Given the description of an element on the screen output the (x, y) to click on. 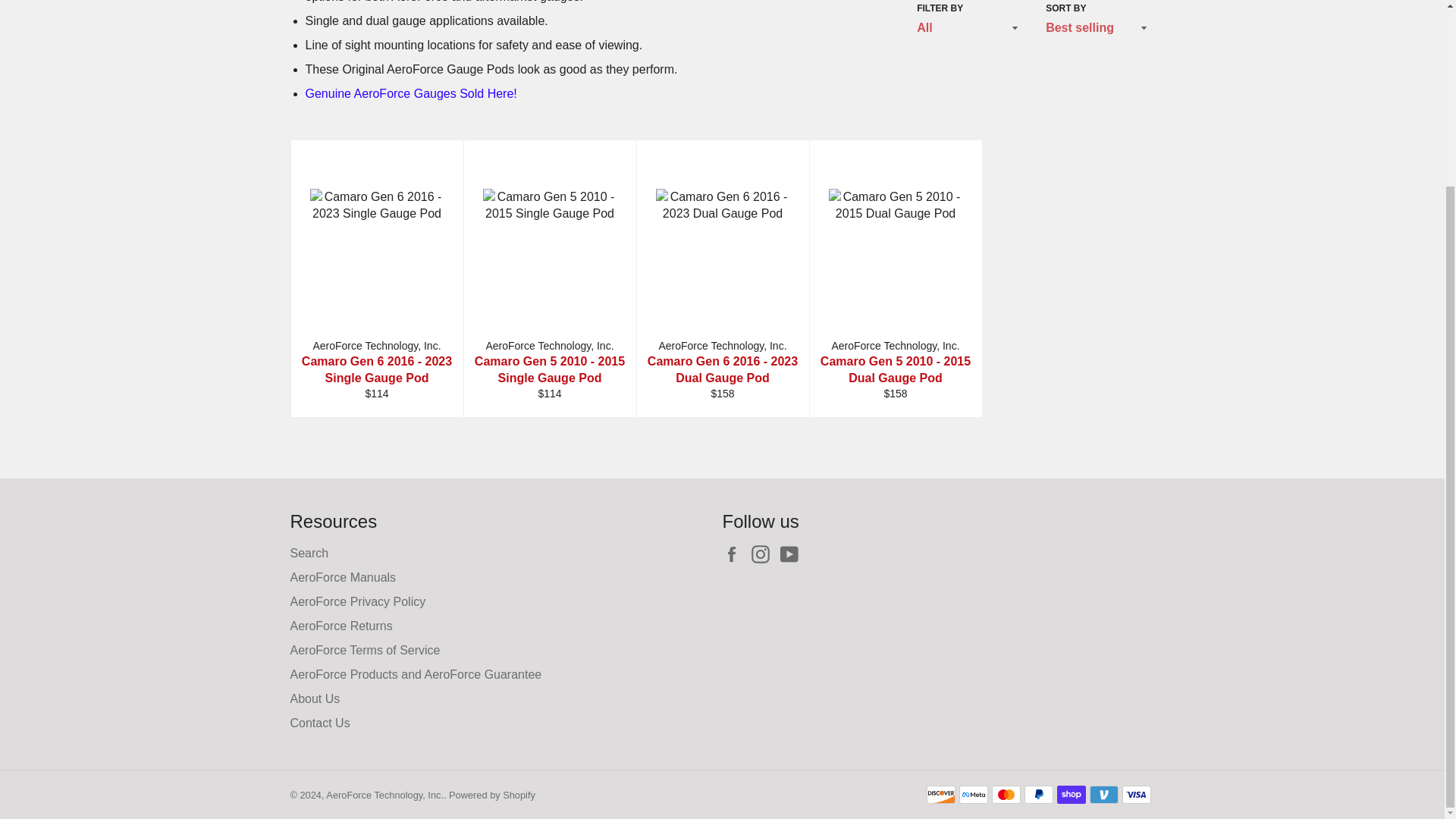
AeroForce Technology, Inc. on Facebook (735, 553)
AeroForce Technology, Inc. on YouTube (793, 553)
AeroForce Gauges (410, 92)
AeroForce Technology, Inc. on Instagram (764, 553)
